Given the description of an element on the screen output the (x, y) to click on. 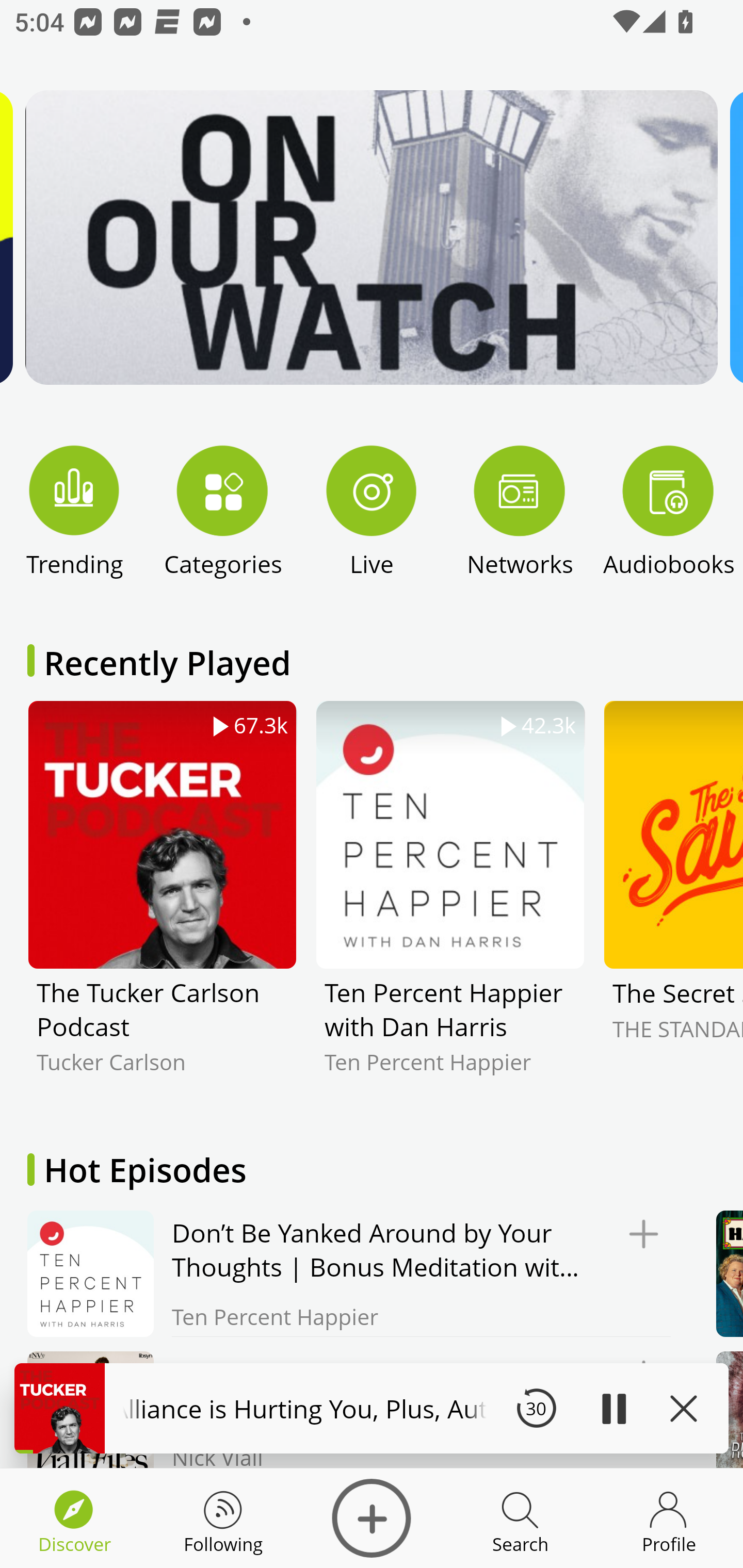
67.3k The Tucker Carlson Podcast Tucker Carlson (162, 902)
The Secret Sauce THE STANDARD (673, 902)
Play (613, 1407)
30 Seek Backward (536, 1407)
Discover Following (222, 1518)
Discover (371, 1518)
Discover Search (519, 1518)
Discover Profile (668, 1518)
